Given the description of an element on the screen output the (x, y) to click on. 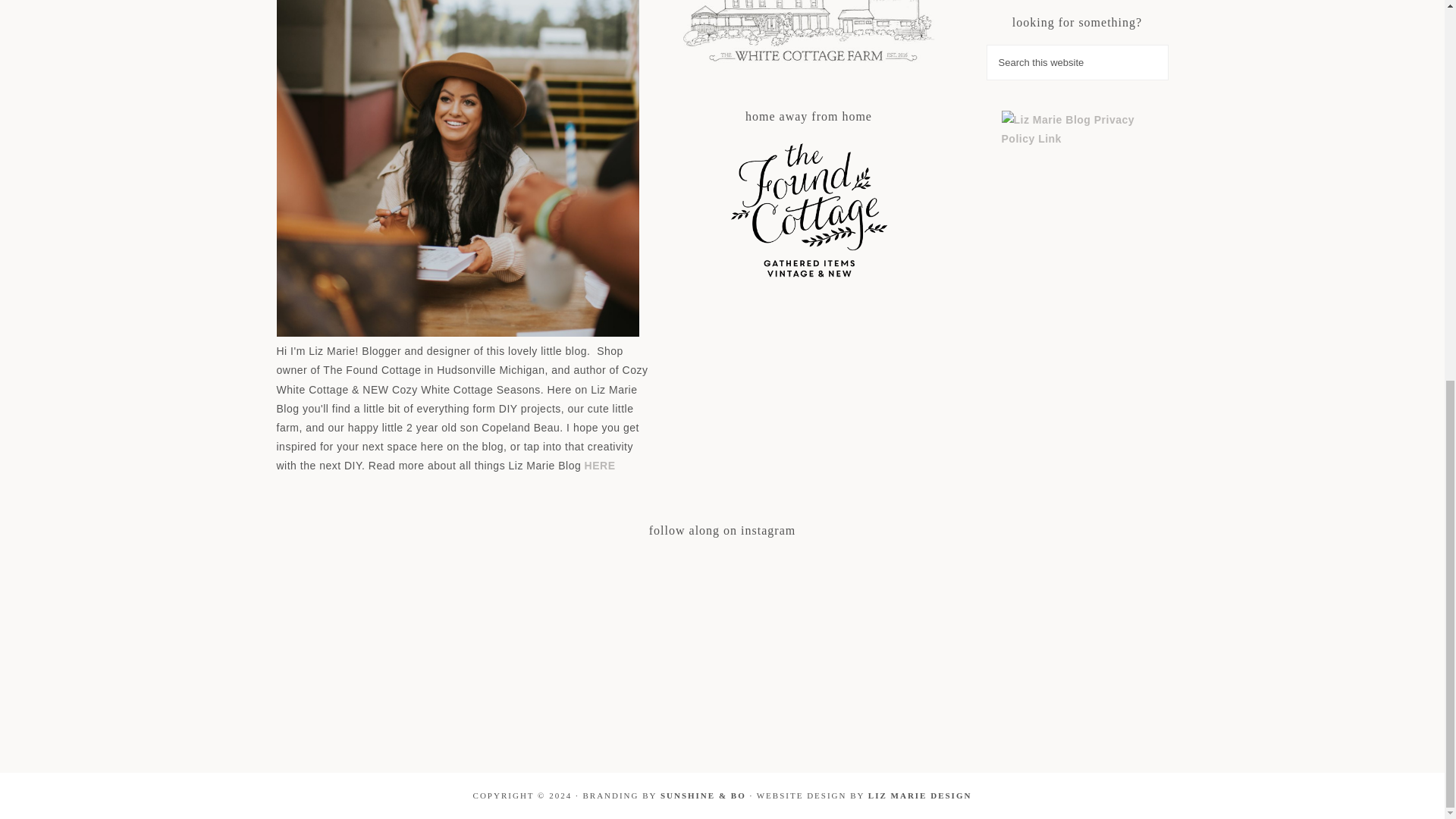
Our happy place (807, 36)
HERE (600, 465)
